Given the description of an element on the screen output the (x, y) to click on. 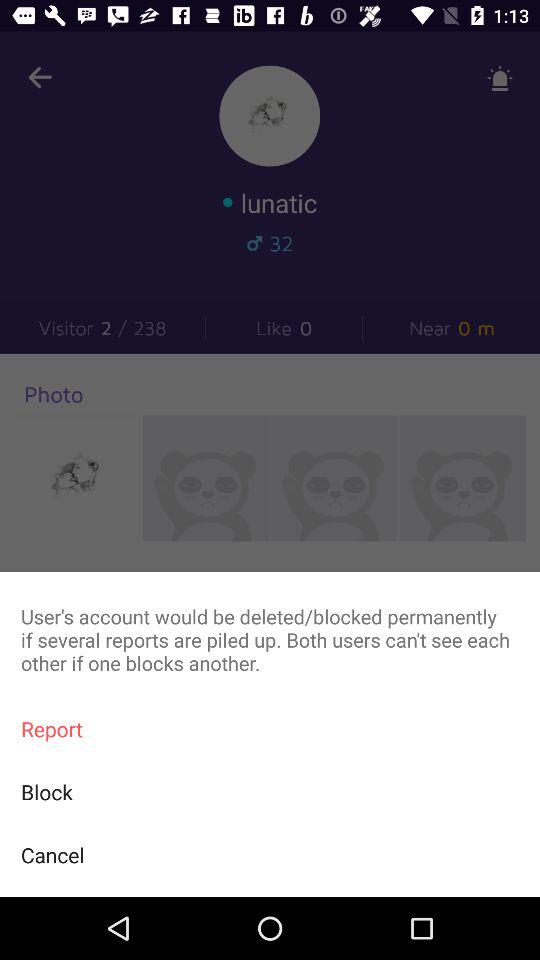
launch cancel button (270, 854)
